Given the description of an element on the screen output the (x, y) to click on. 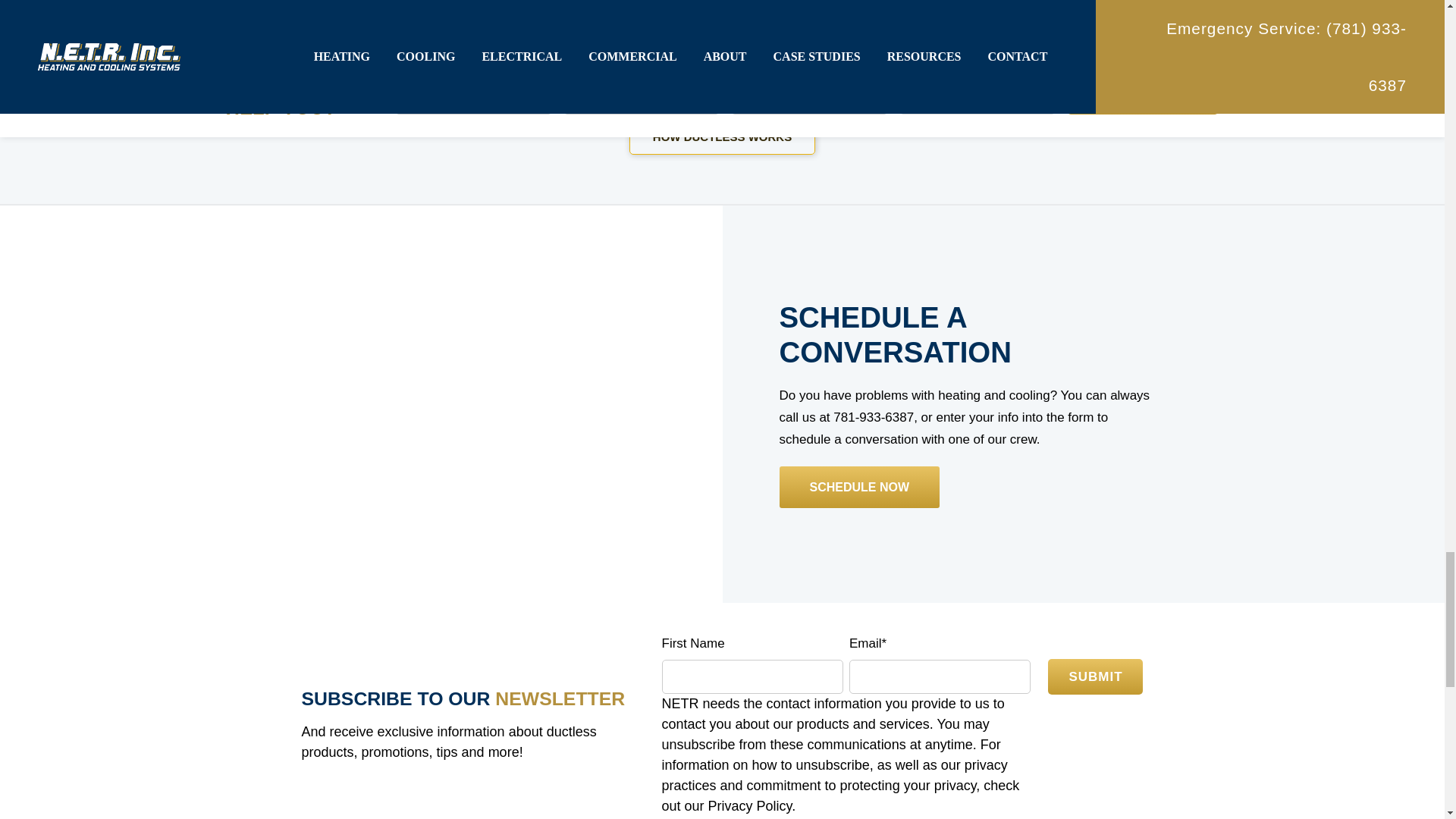
Submit (1095, 676)
